Given the description of an element on the screen output the (x, y) to click on. 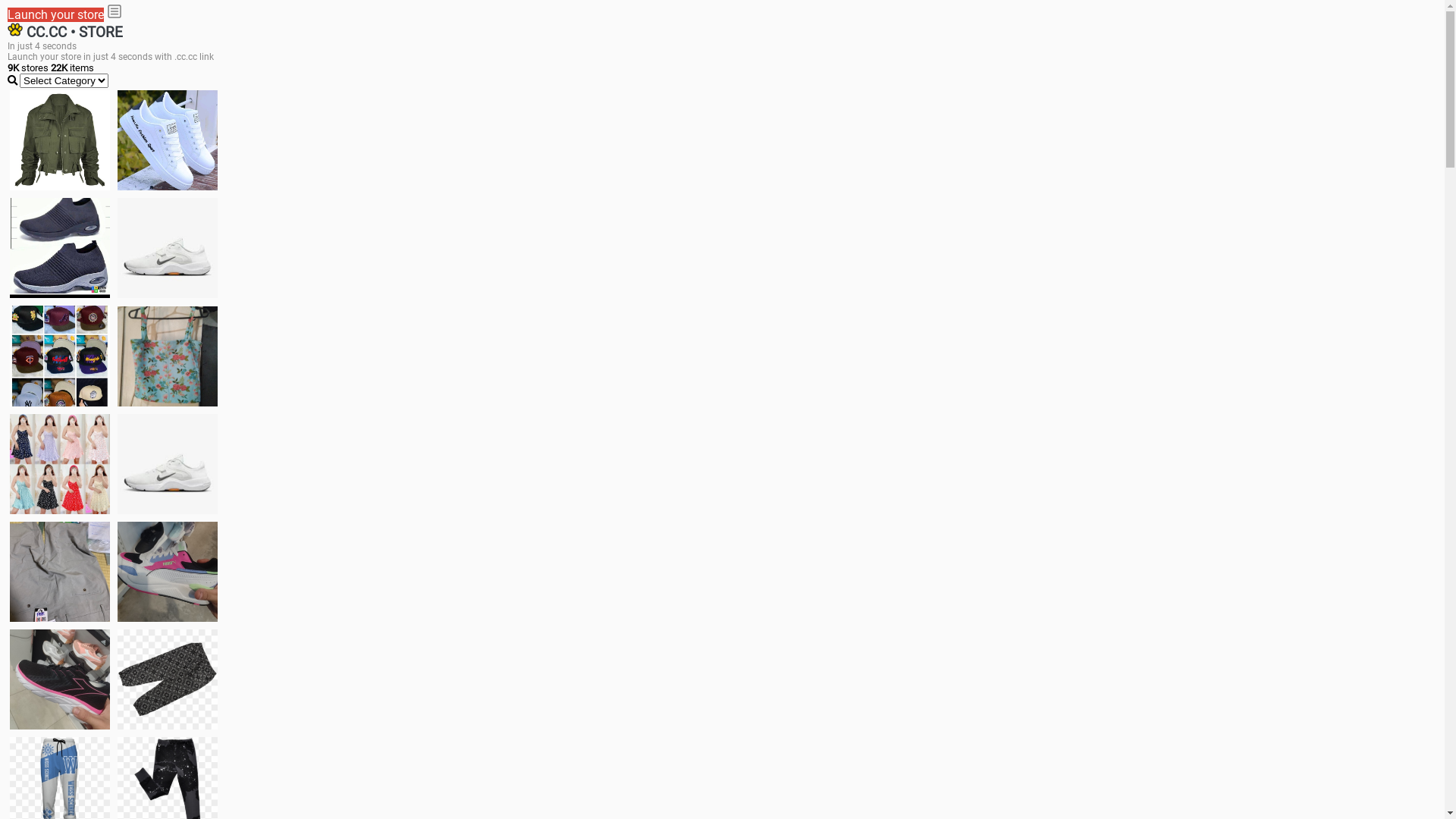
white shoes Element type: hover (167, 140)
Dress/square nect top Element type: hover (59, 464)
Zapatillas pumas Element type: hover (167, 571)
Short pant Element type: hover (167, 679)
Zapatillas Element type: hover (59, 679)
Ukay cloth Element type: hover (167, 356)
Shoes Element type: hover (167, 464)
Things we need Element type: hover (59, 355)
Shoes for boys Element type: hover (167, 247)
Launch your store Element type: text (55, 14)
jacket Element type: hover (59, 140)
shoes for boys Element type: hover (59, 247)
